Given the description of an element on the screen output the (x, y) to click on. 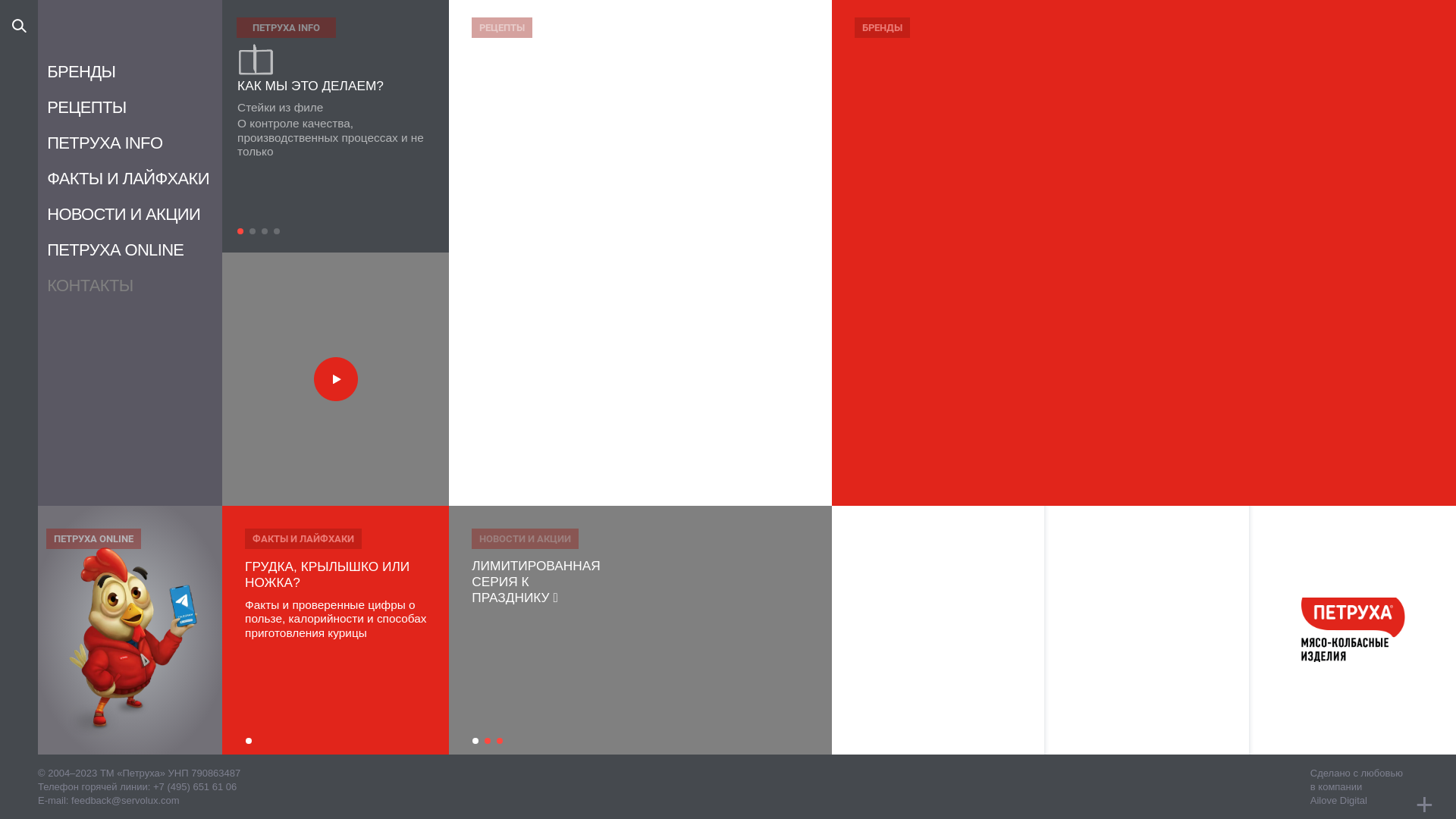
+7 (495) 651 61 06 Element type: text (194, 786)
feedback@servolux.com Element type: text (125, 800)
